Given the description of an element on the screen output the (x, y) to click on. 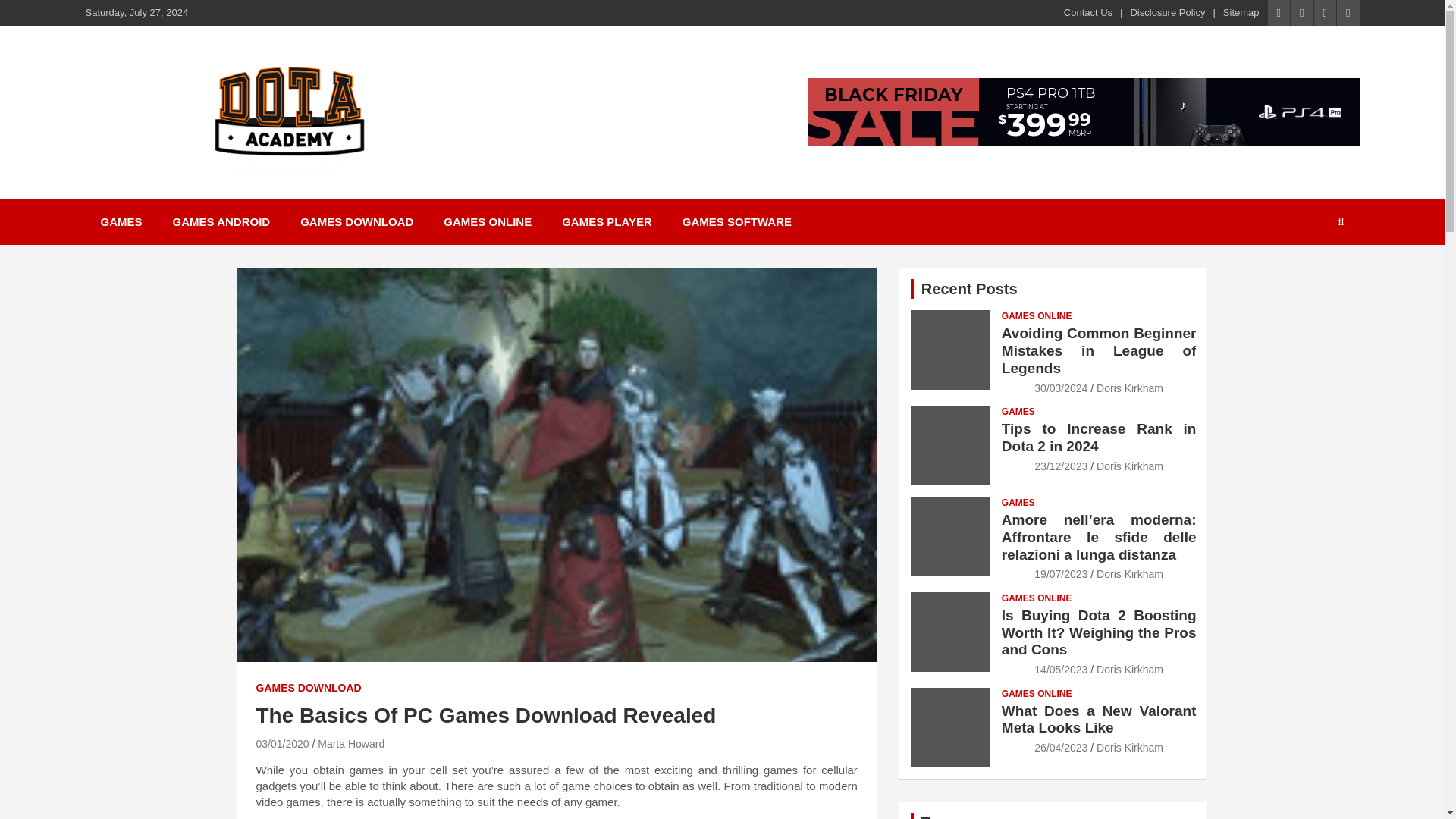
Disclosure Policy (1167, 12)
Tips to Increase Rank in Dota 2 in 2024 (1098, 437)
GAMES DOWNLOAD (308, 688)
GAMES (120, 221)
GAMES DOWNLOAD (356, 221)
Doris Kirkham (1129, 466)
GAMES ONLINE (487, 221)
Sitemap (1241, 12)
GAMES ANDROID (221, 221)
Dota Academy (318, 195)
GAMES ONLINE (1036, 316)
Marta Howard (350, 743)
GAMES PLAYER (606, 221)
GAMES (1018, 502)
